Given the description of an element on the screen output the (x, y) to click on. 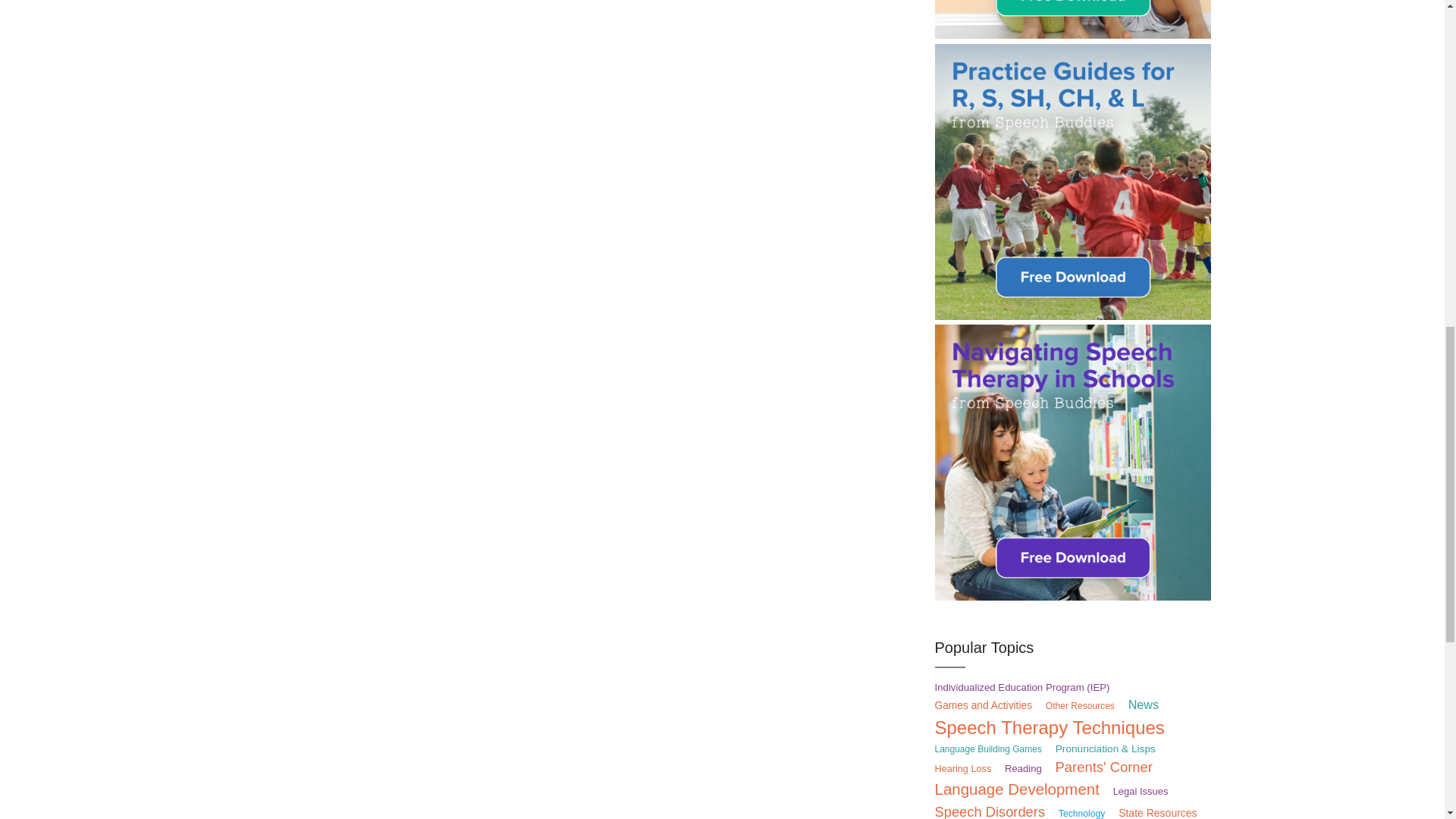
86 topics (1143, 704)
32 topics (1021, 686)
40 topics (1105, 748)
9 topics (987, 748)
42 topics (983, 705)
10 topics (1080, 706)
231 topics (1048, 727)
